Given the description of an element on the screen output the (x, y) to click on. 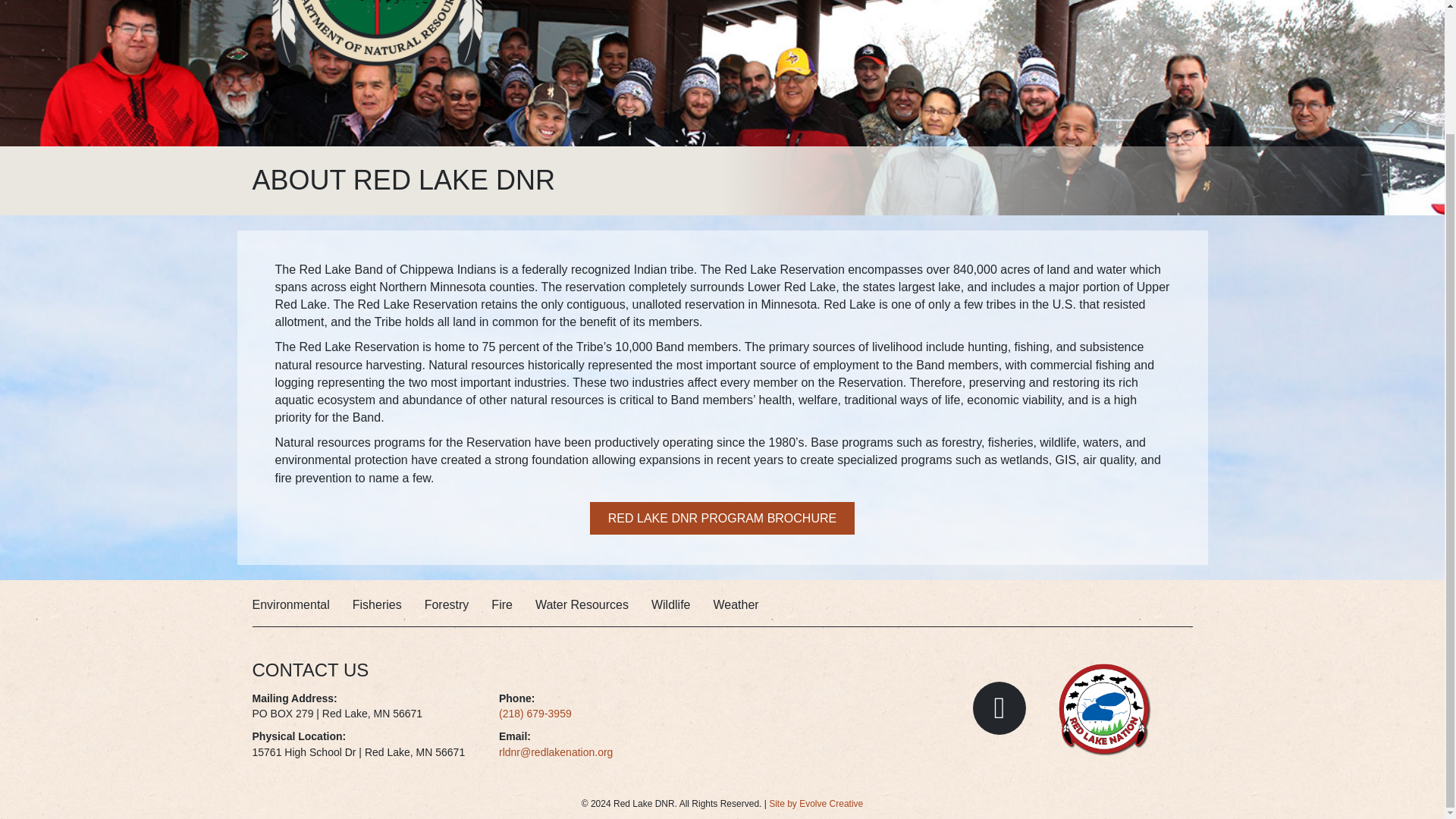
Evolve Creative (815, 803)
Redlake DNR (378, 34)
logo-red-lake-nation (1104, 707)
